Given the description of an element on the screen output the (x, y) to click on. 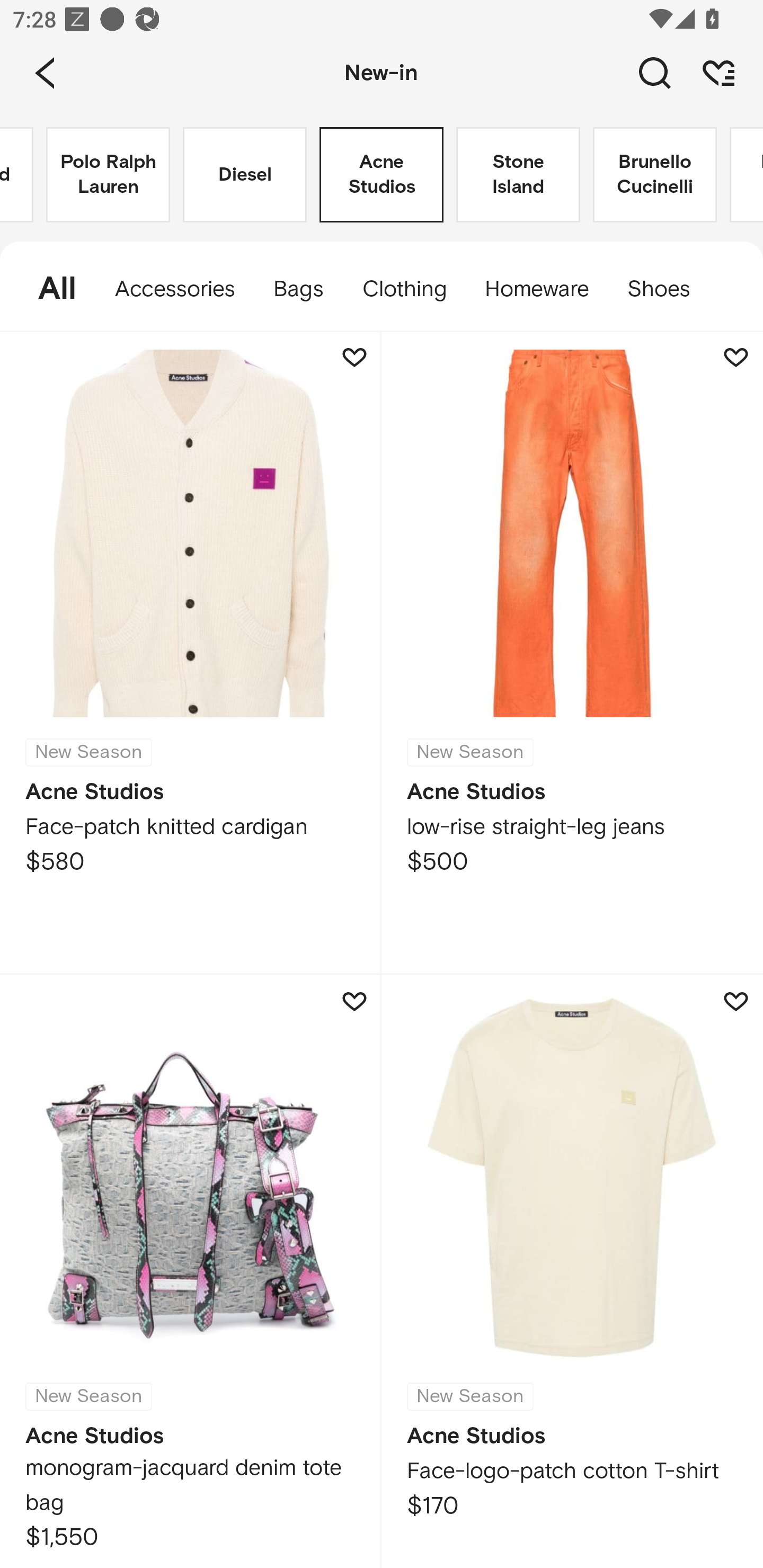
Polo Ralph Lauren (107, 174)
Diesel (244, 174)
Acne Studios (381, 174)
Stone Island (517, 174)
Brunello Cucinelli (654, 174)
All (47, 288)
Accessories (174, 288)
Bags (298, 288)
Clothing (403, 288)
Homeware (536, 288)
Shoes (668, 288)
